Given the description of an element on the screen output the (x, y) to click on. 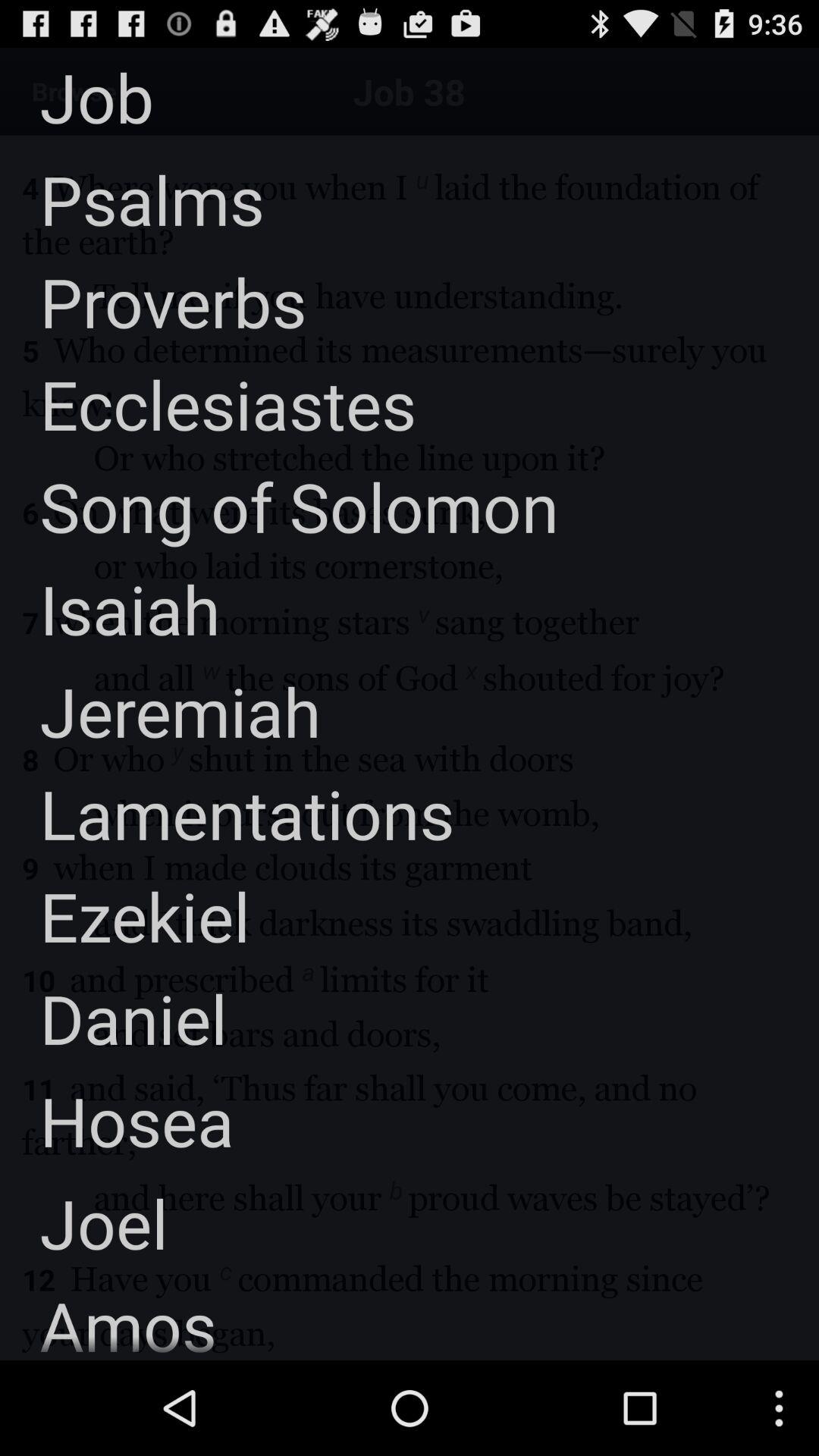
turn on lamentations item (227, 813)
